Given the description of an element on the screen output the (x, y) to click on. 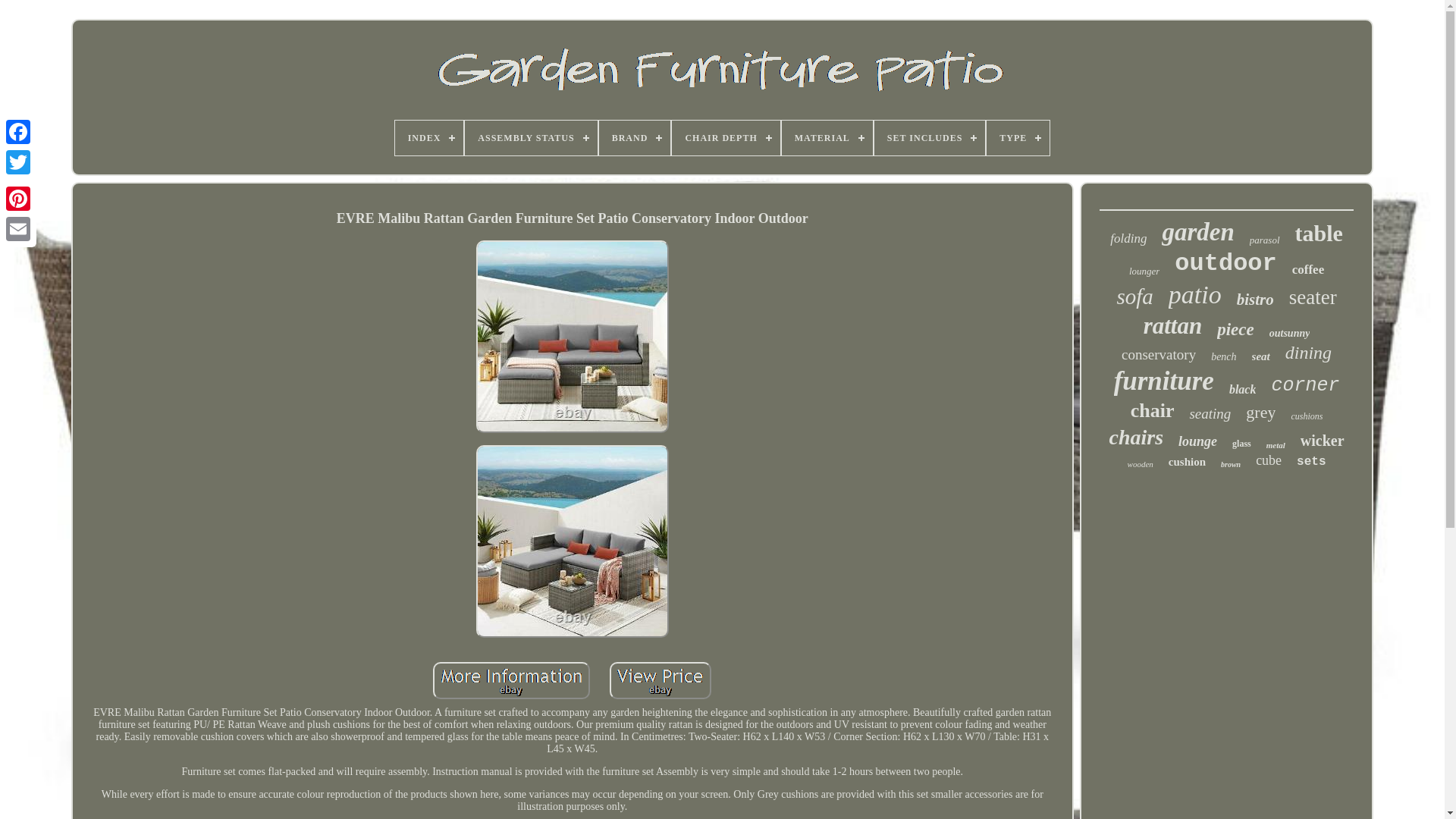
BRAND (634, 137)
INDEX (429, 137)
Twitter (17, 162)
Email (17, 228)
CHAIR DEPTH (724, 137)
ASSEMBLY STATUS (530, 137)
